Given the description of an element on the screen output the (x, y) to click on. 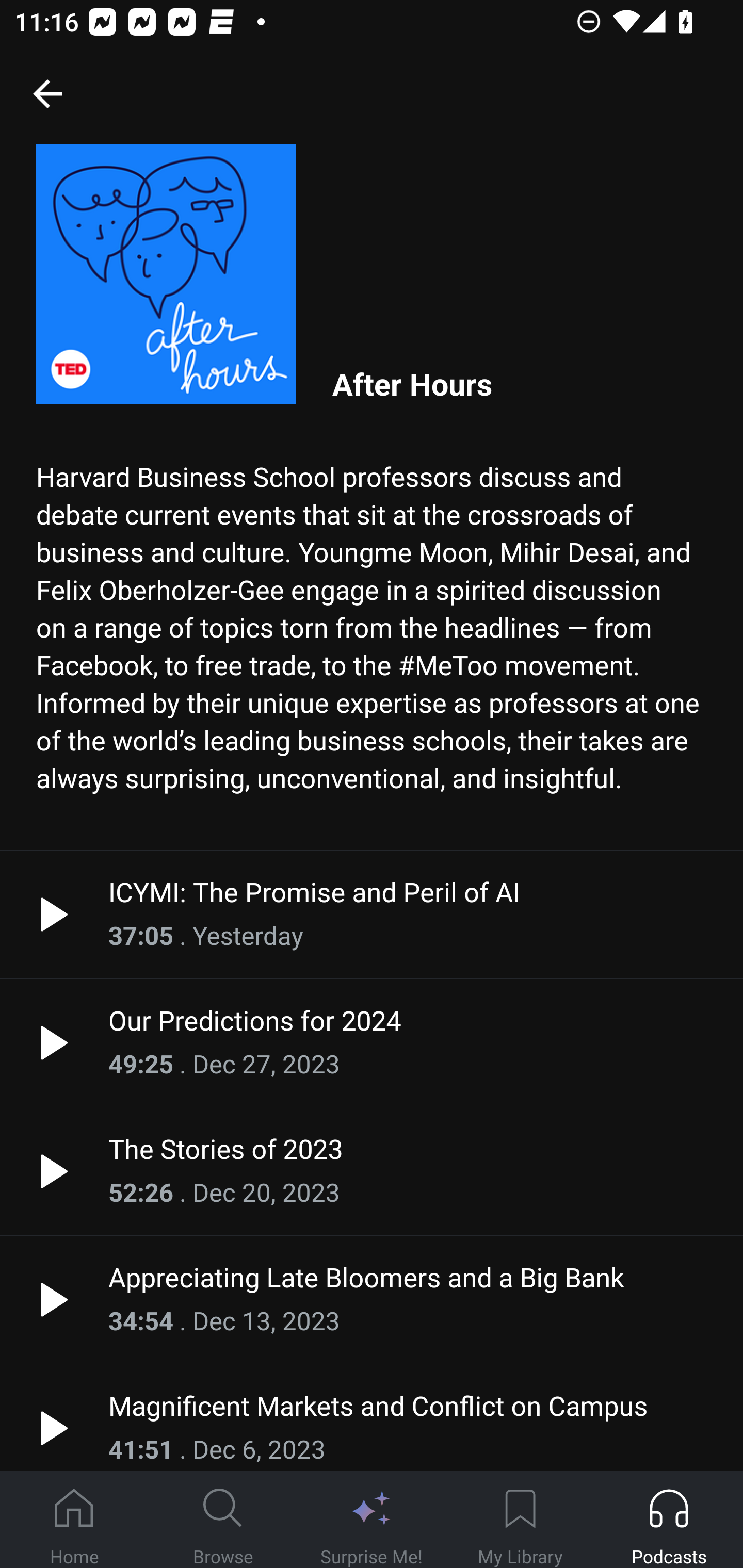
TED Podcasts, back (47, 92)
Our Predictions for 2024 49:25 . Dec 27, 2023 (371, 1042)
The Stories of 2023 52:26 . Dec 20, 2023 (371, 1171)
Home (74, 1520)
Browse (222, 1520)
Surprise Me! (371, 1520)
My Library (519, 1520)
Podcasts (668, 1520)
